Given the description of an element on the screen output the (x, y) to click on. 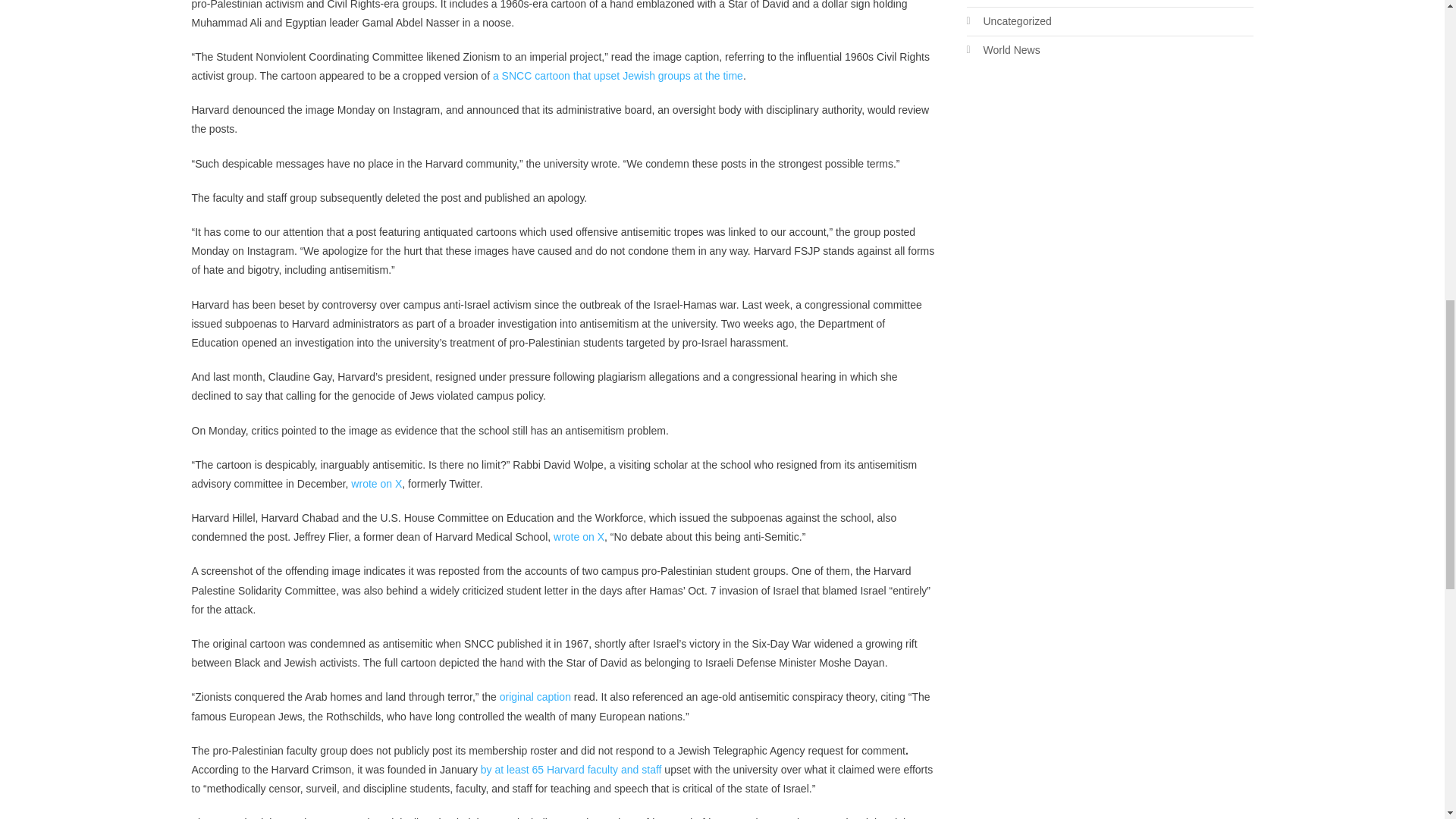
a SNCC cartoon that upset Jewish groups at the time (617, 75)
by at least 65 Harvard faculty and staff (571, 769)
original caption (534, 696)
wrote on X (578, 536)
wrote on X (375, 483)
